Given the description of an element on the screen output the (x, y) to click on. 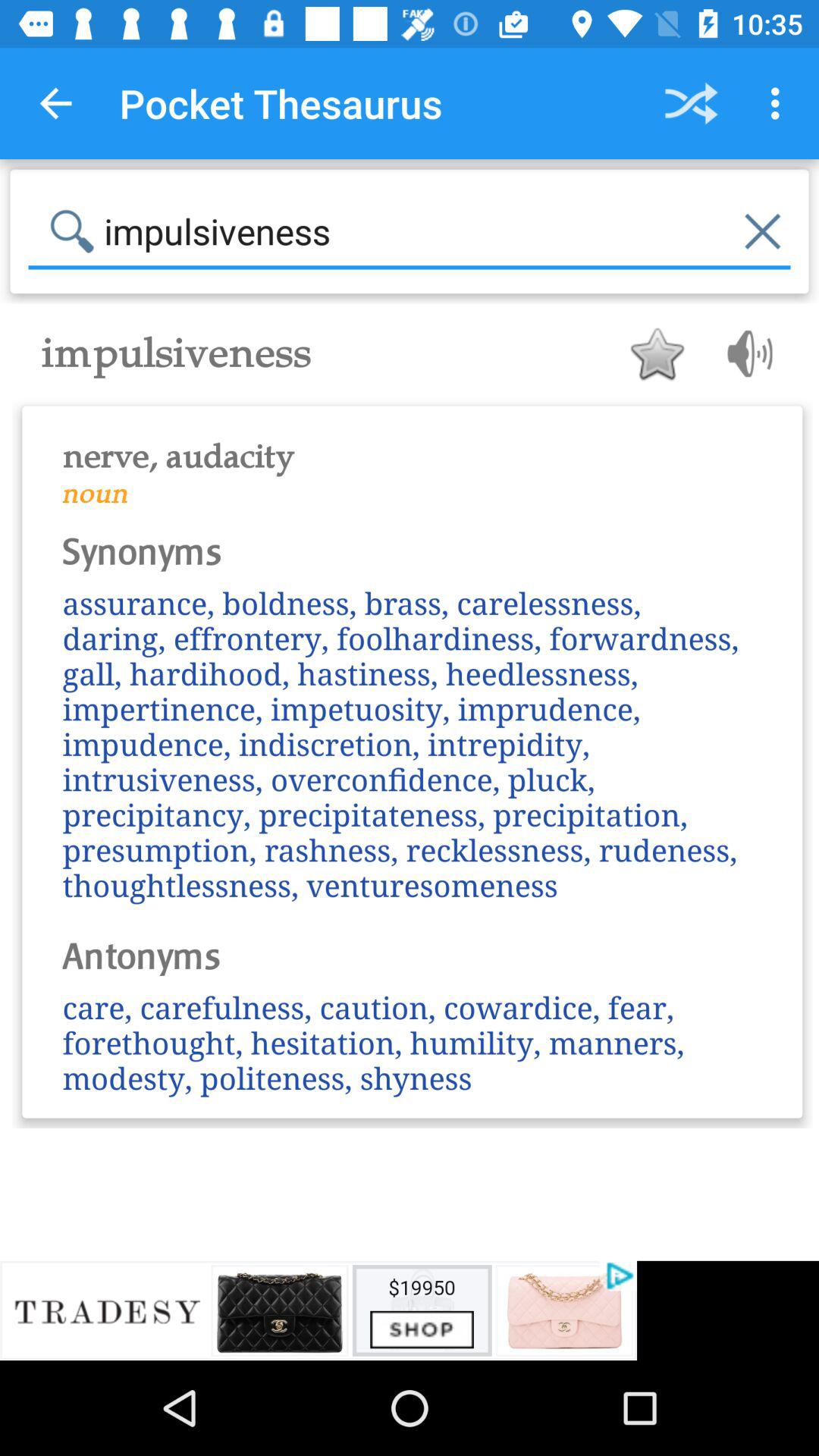
volume (745, 353)
